Given the description of an element on the screen output the (x, y) to click on. 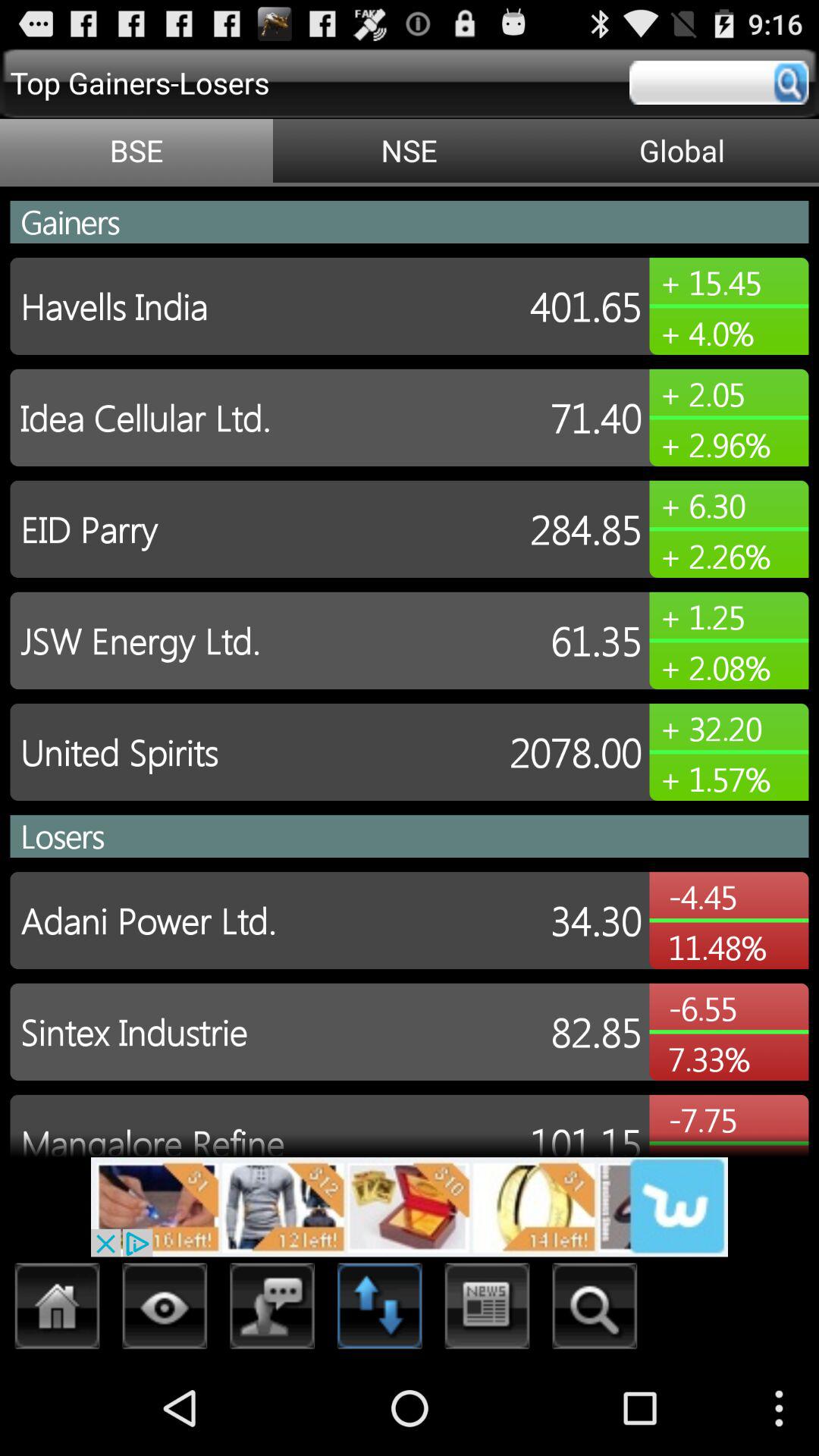
search bar (718, 82)
